Given the description of an element on the screen output the (x, y) to click on. 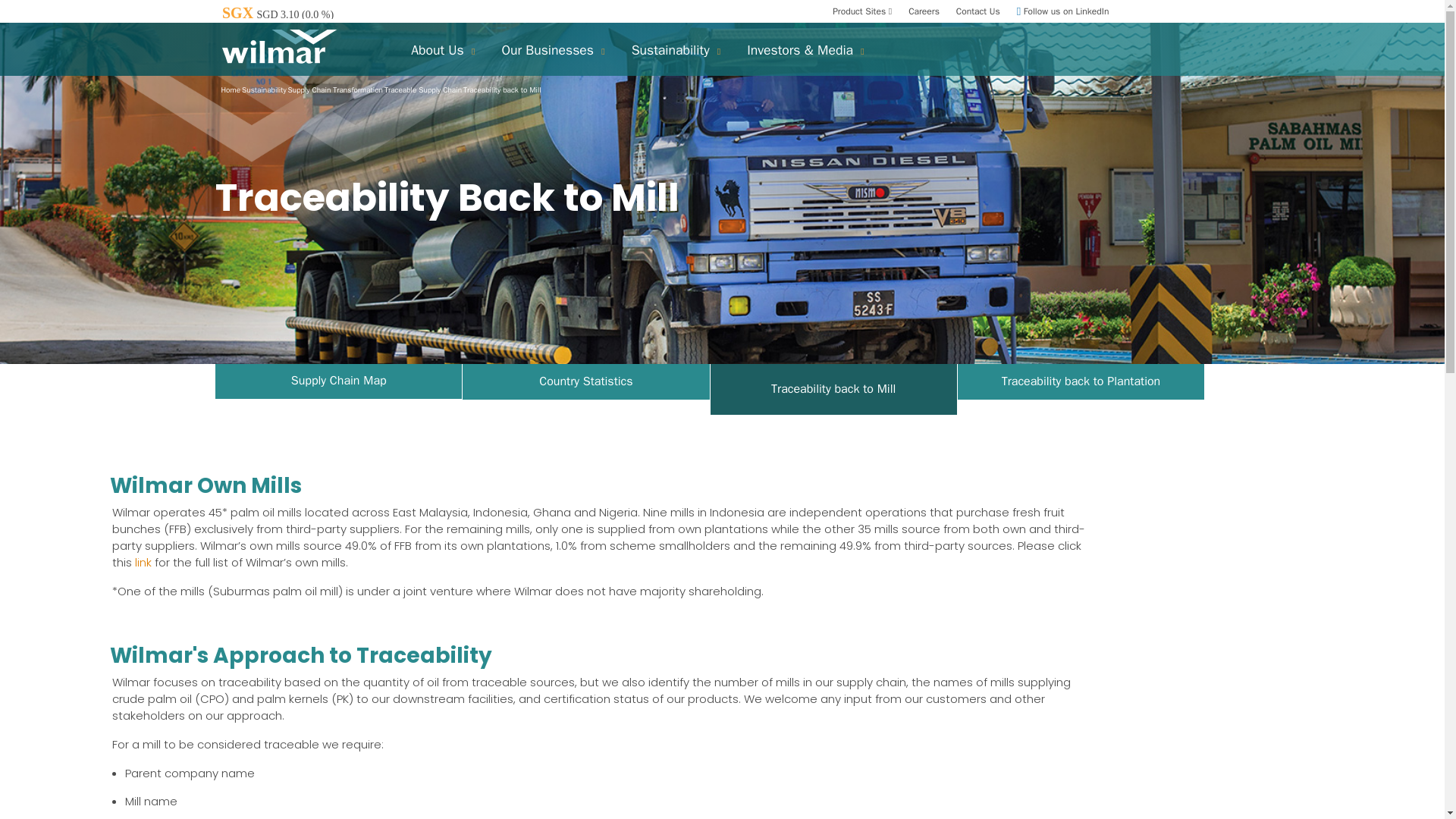
Product Sites (861, 10)
Contact Us (978, 10)
Our Businesses (545, 49)
About Us (435, 49)
Sustainability (667, 49)
Follow us on LinkedIn (1062, 10)
Careers (923, 10)
logo (278, 46)
